Given the description of an element on the screen output the (x, y) to click on. 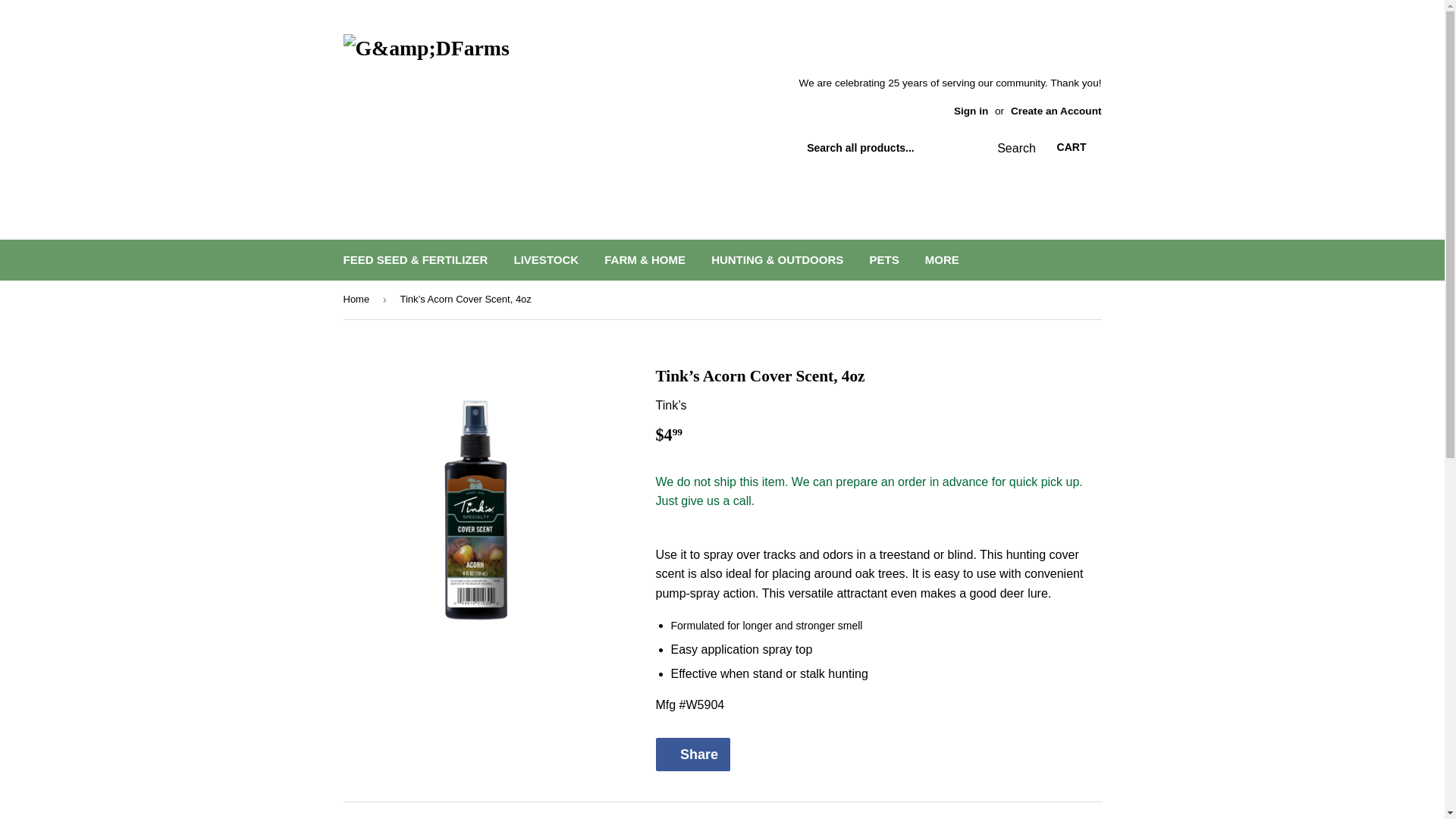
Create an Account (1056, 111)
Search (1009, 148)
CART (1072, 147)
Share on Facebook (692, 754)
Sign in (970, 111)
